Given the description of an element on the screen output the (x, y) to click on. 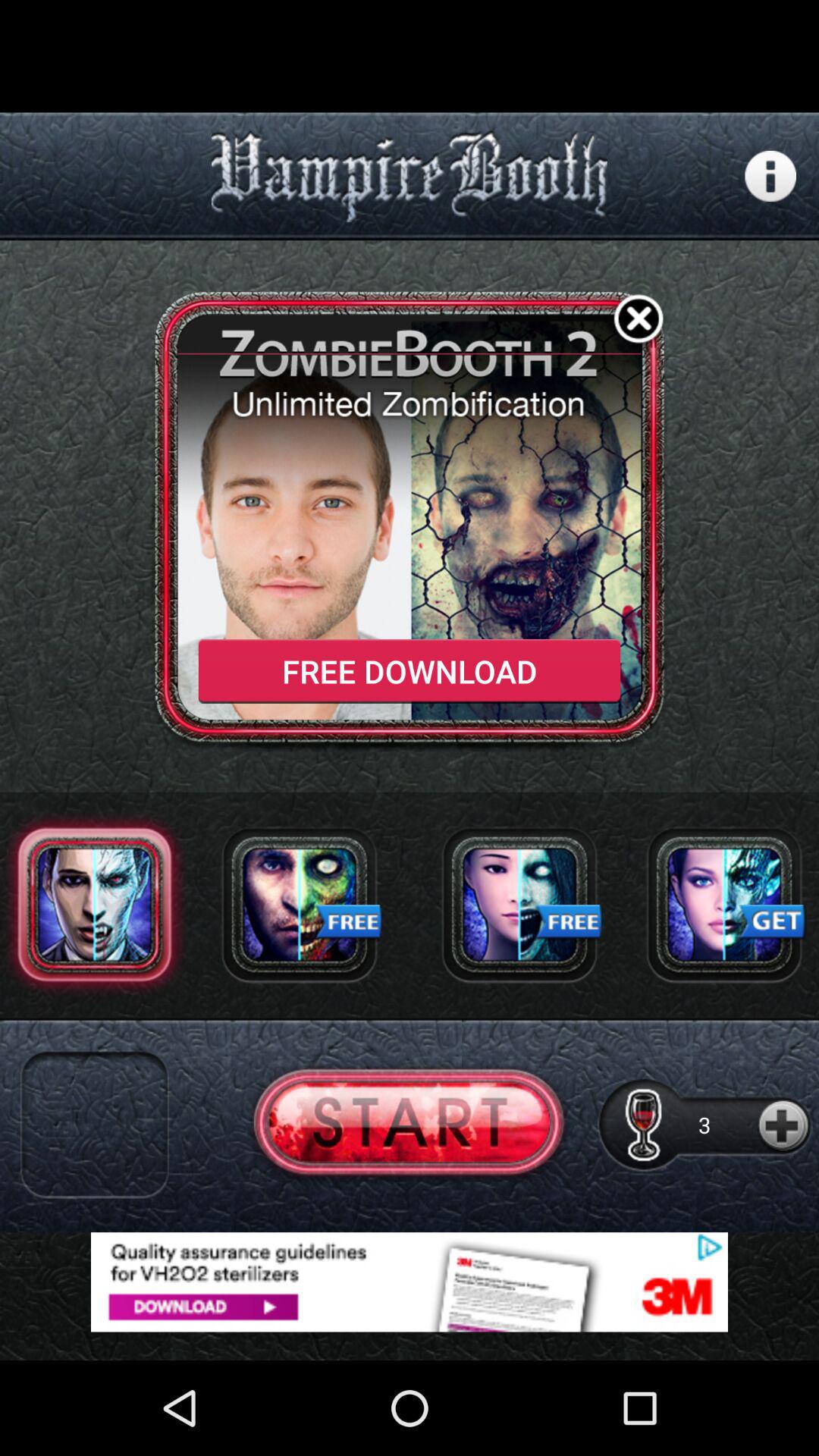
advertisement page (409, 1282)
